Given the description of an element on the screen output the (x, y) to click on. 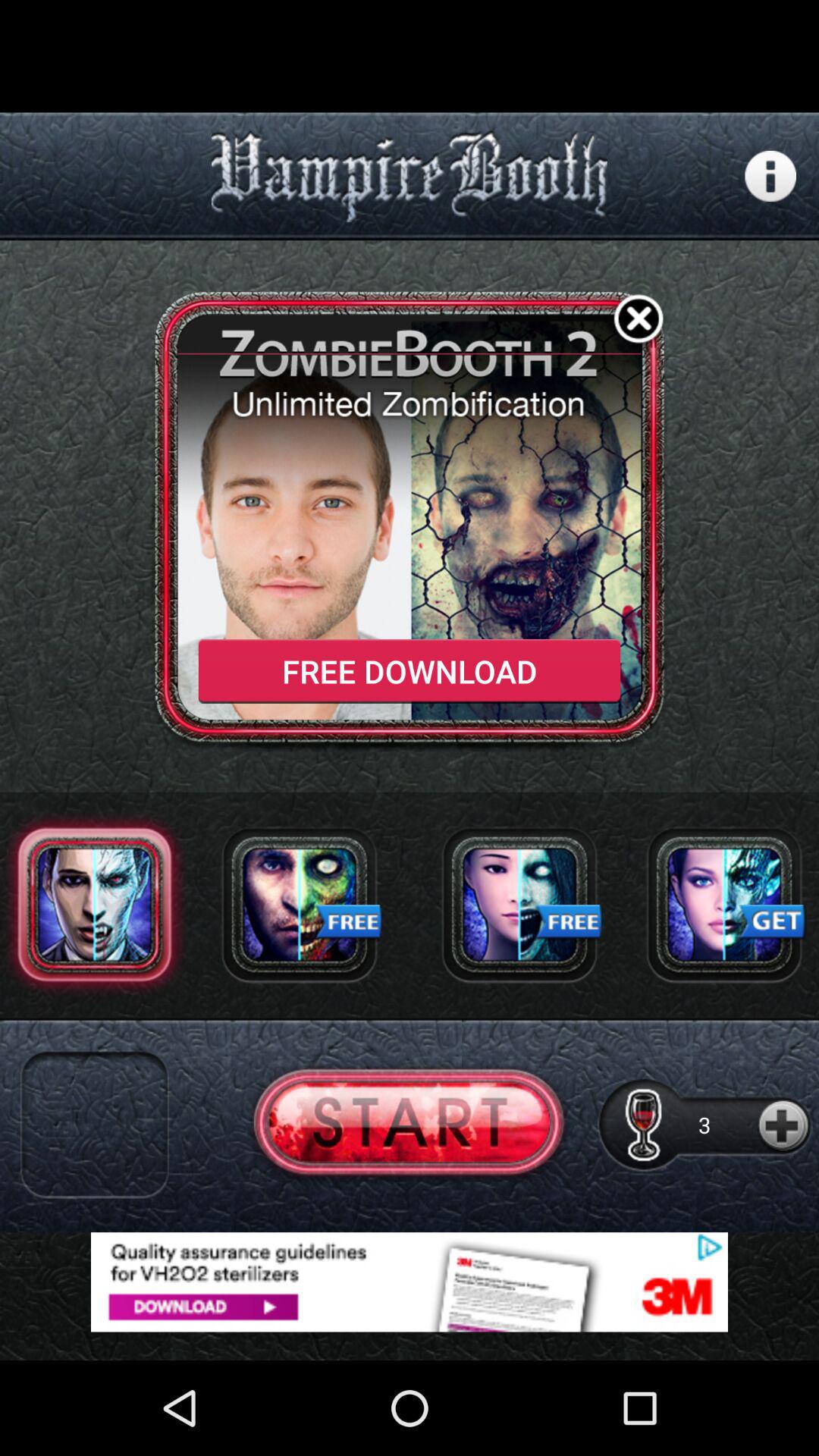
advertisement page (409, 1282)
